Given the description of an element on the screen output the (x, y) to click on. 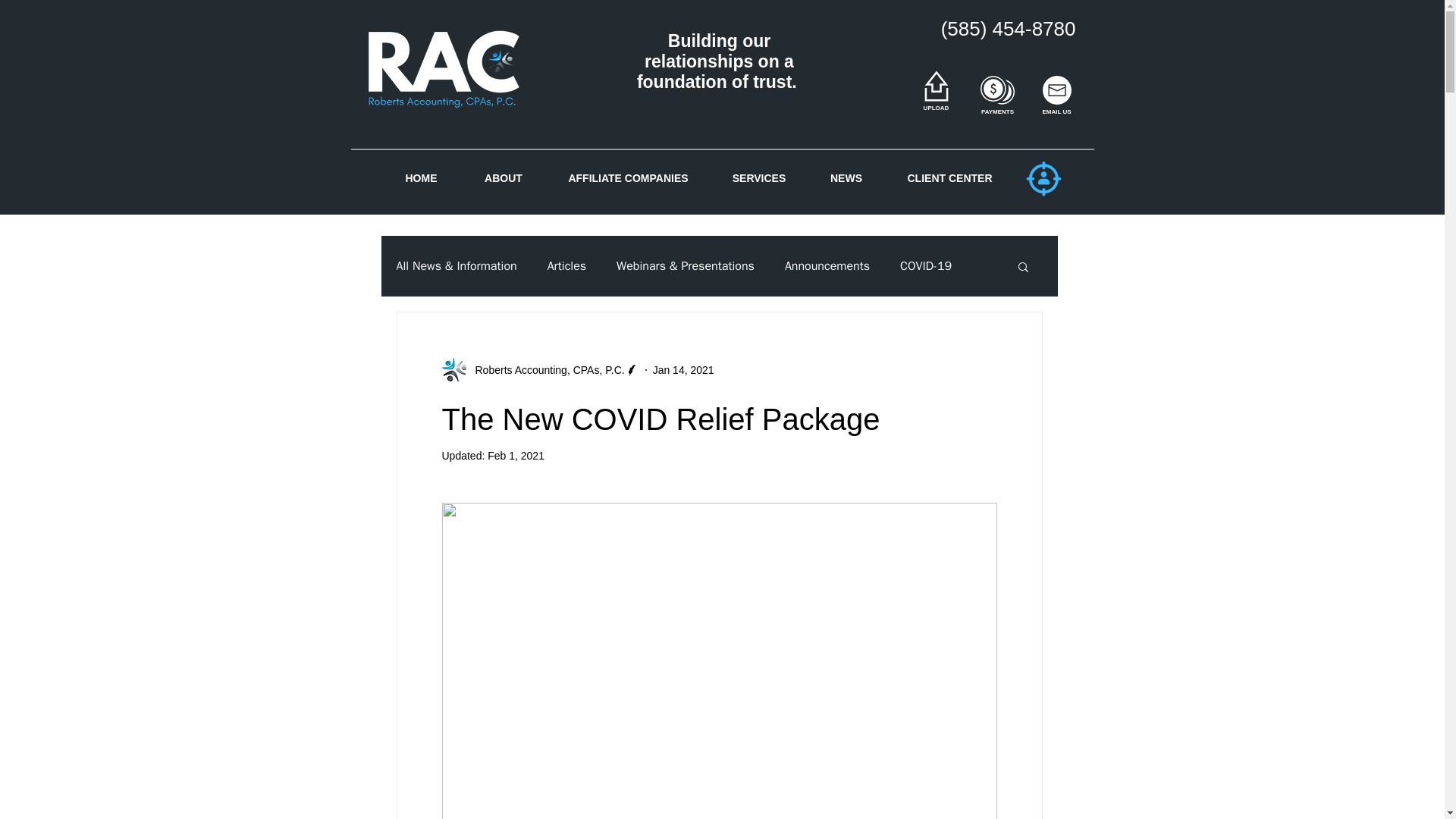
CLIENT CENTER (949, 177)
NEWS (845, 177)
Articles (566, 265)
Feb 1, 2021 (515, 455)
SERVICES (759, 177)
Roberts Accounting, CPAs, P.C. (540, 369)
Announcements (826, 265)
Roberts Accounting, CPAs, P.C. (544, 370)
COVID-19 (925, 265)
HOME (420, 177)
ABOUT (502, 177)
Jan 14, 2021 (683, 369)
